Given the description of an element on the screen output the (x, y) to click on. 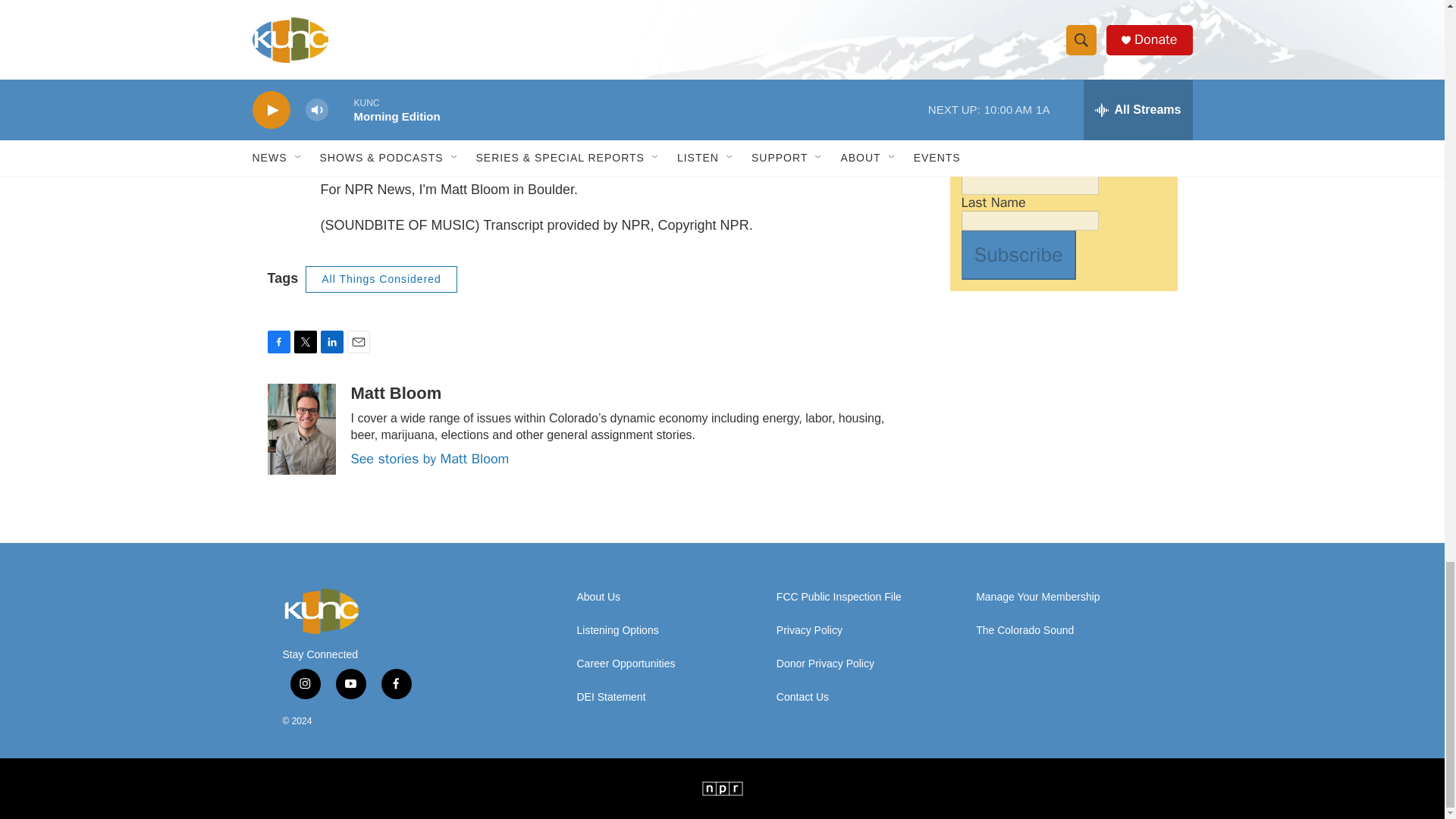
Subscribe (1017, 255)
